Given the description of an element on the screen output the (x, y) to click on. 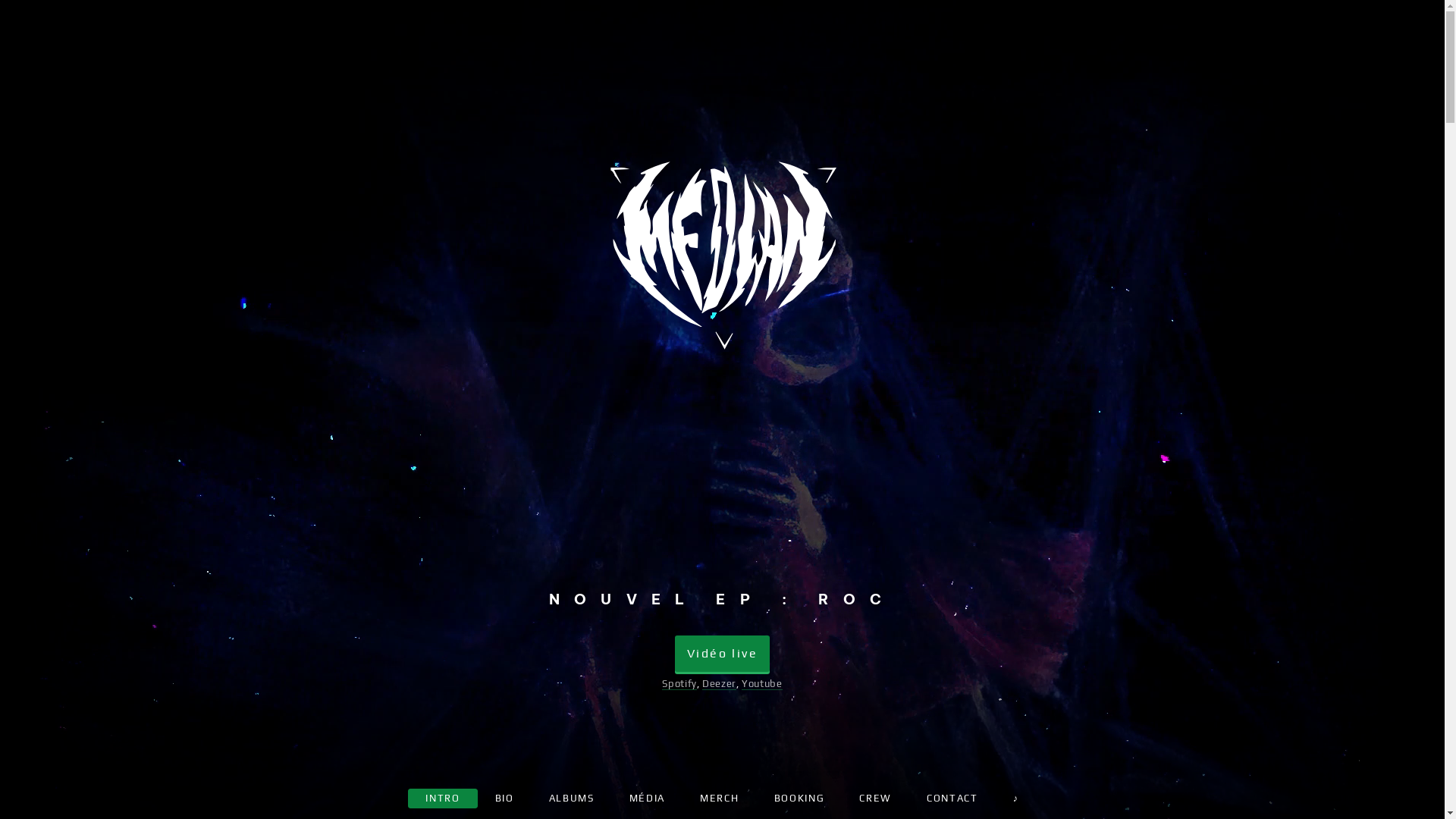
Deezer Element type: text (719, 683)
Youtube Element type: text (761, 683)
MERCH Element type: text (719, 798)
INTRO Element type: text (441, 798)
Spotify Element type: text (679, 683)
BOOKING Element type: text (799, 798)
BIO Element type: text (504, 798)
CONTACT Element type: text (952, 798)
CREW Element type: text (875, 798)
ALBUMS Element type: text (571, 798)
